Given the description of an element on the screen output the (x, y) to click on. 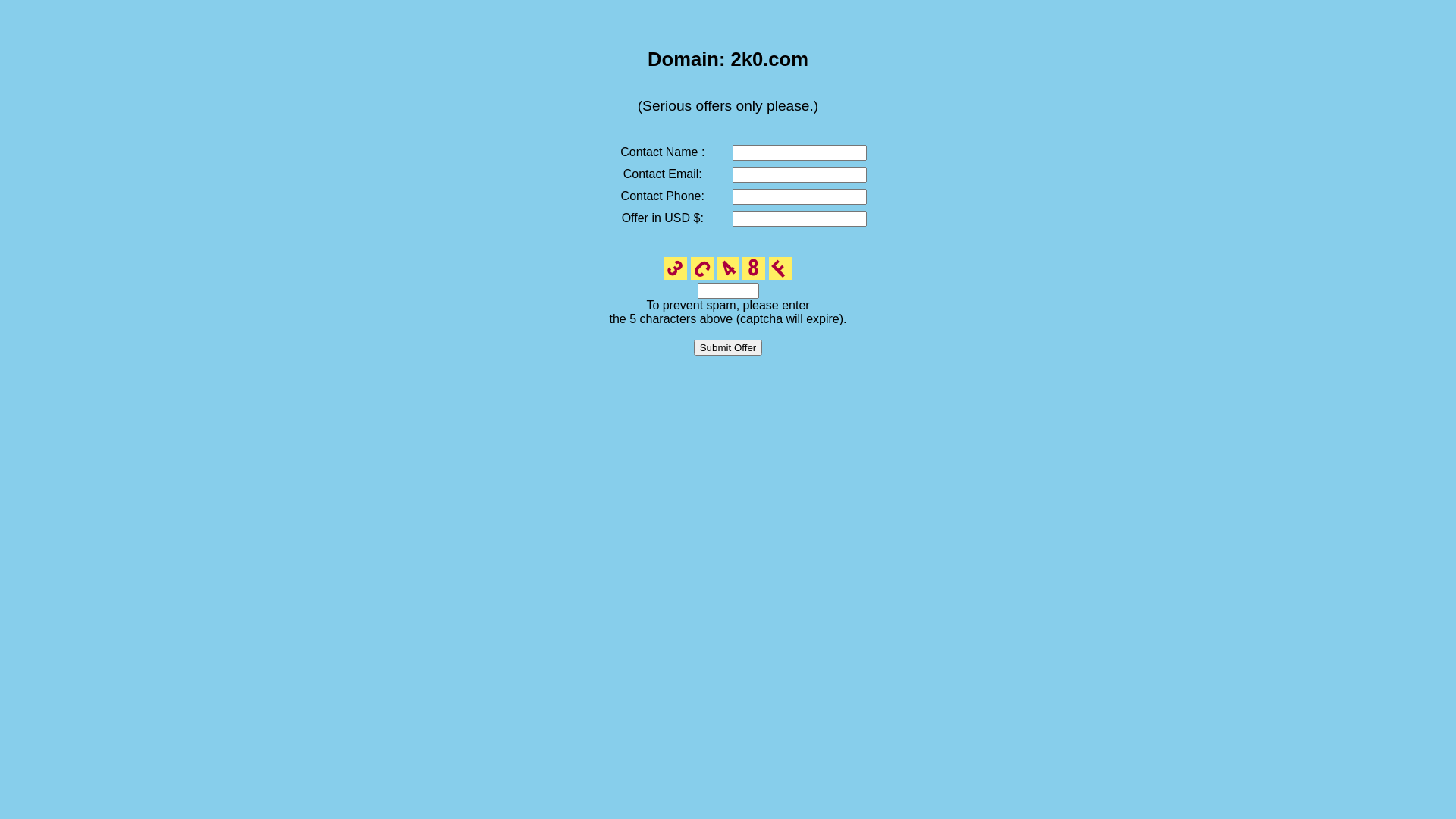
Submit Offer Element type: text (727, 347)
